Given the description of an element on the screen output the (x, y) to click on. 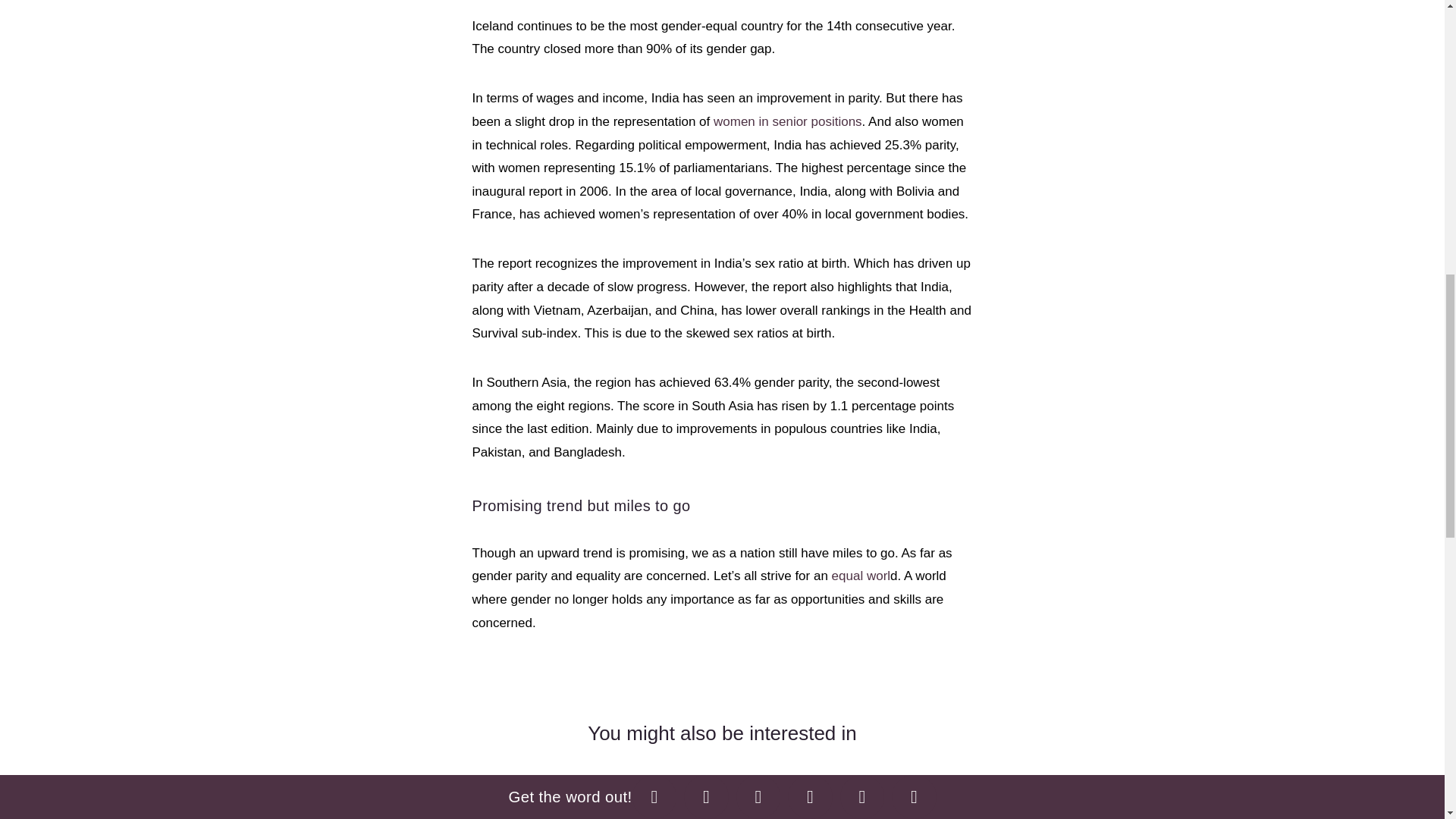
women in senior positions (787, 121)
equal worl (861, 575)
